Given the description of an element on the screen output the (x, y) to click on. 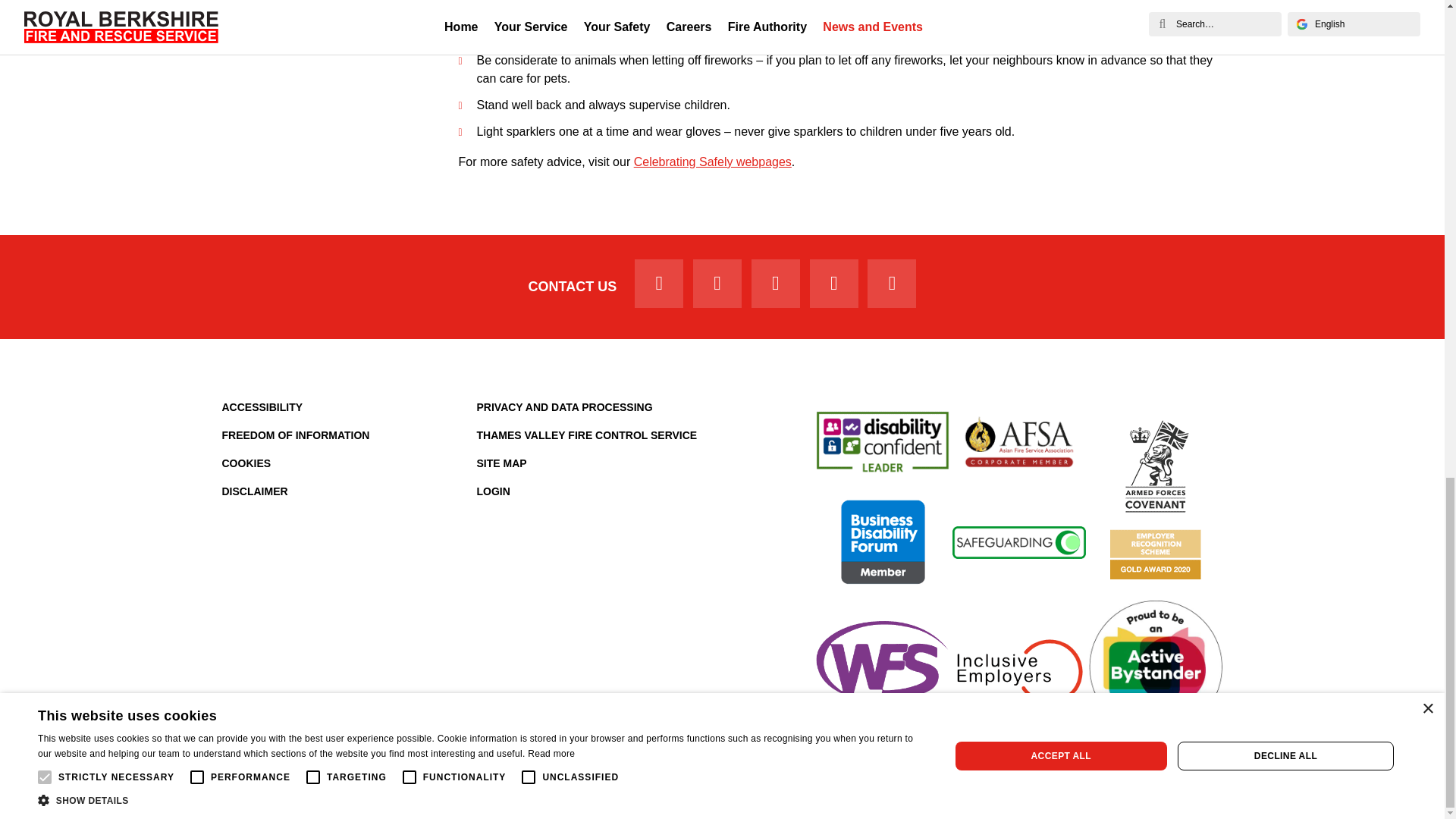
Contact Royal Berkshire Fire and Rescue Service (572, 286)
